Given the description of an element on the screen output the (x, y) to click on. 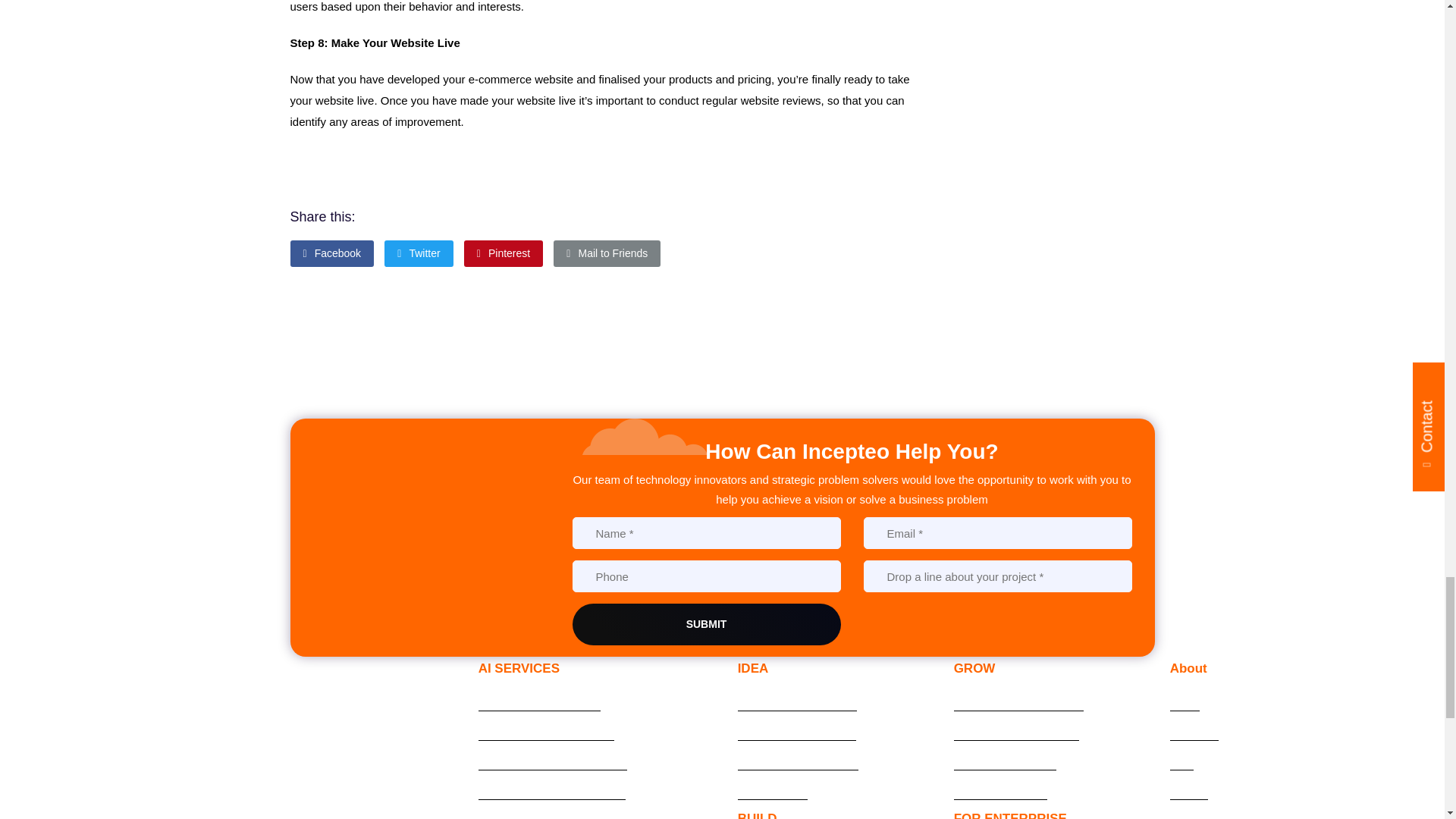
SUBMIT (706, 624)
